Given the description of an element on the screen output the (x, y) to click on. 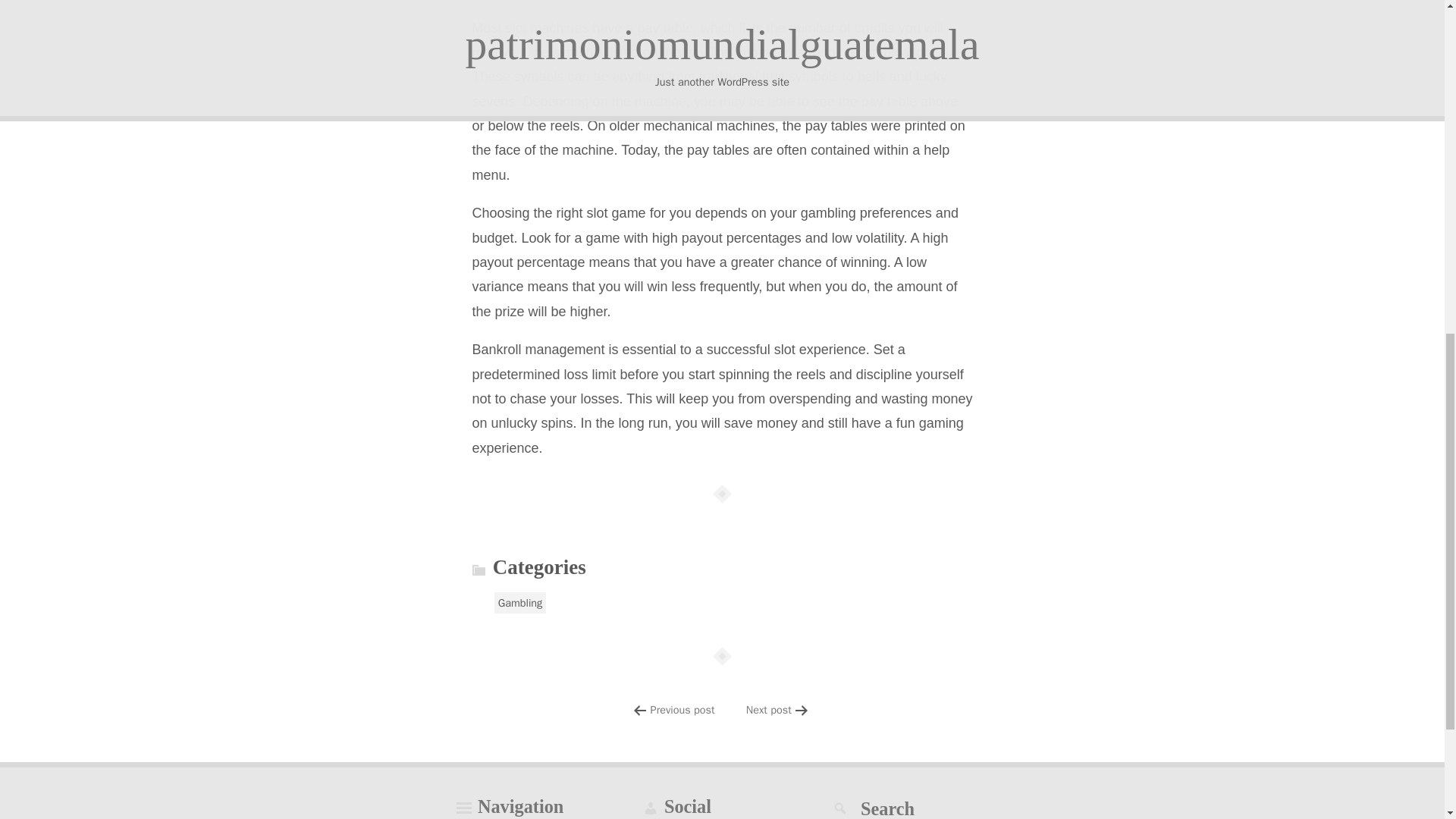
Next post (768, 709)
Gambling (521, 602)
Previous post (682, 709)
